Given the description of an element on the screen output the (x, y) to click on. 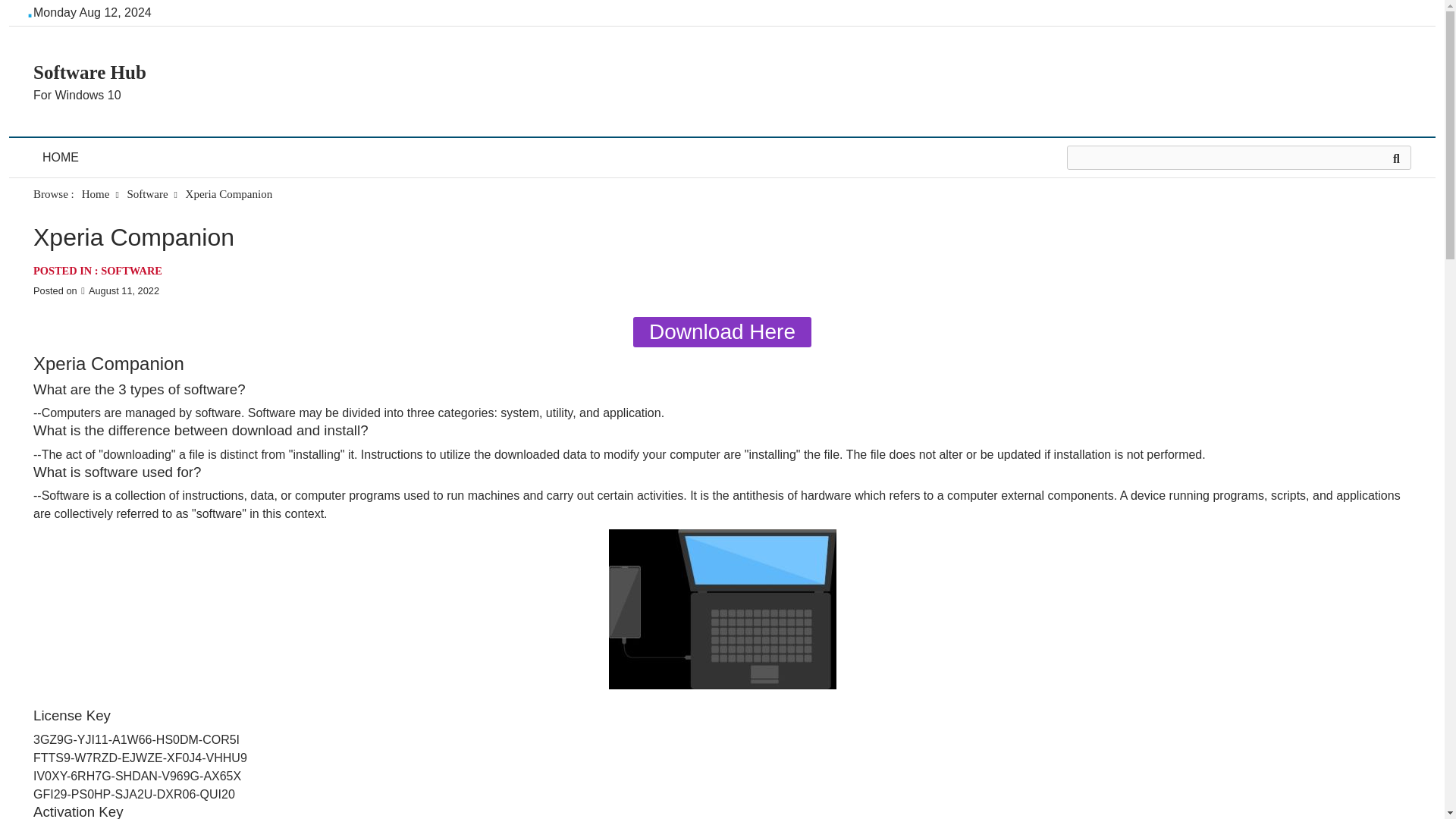
Software (146, 193)
Home (95, 193)
Software Hub (90, 72)
Download Here (721, 331)
August 11, 2022 (119, 290)
SOFTWARE (130, 270)
HOME (60, 157)
